Given the description of an element on the screen output the (x, y) to click on. 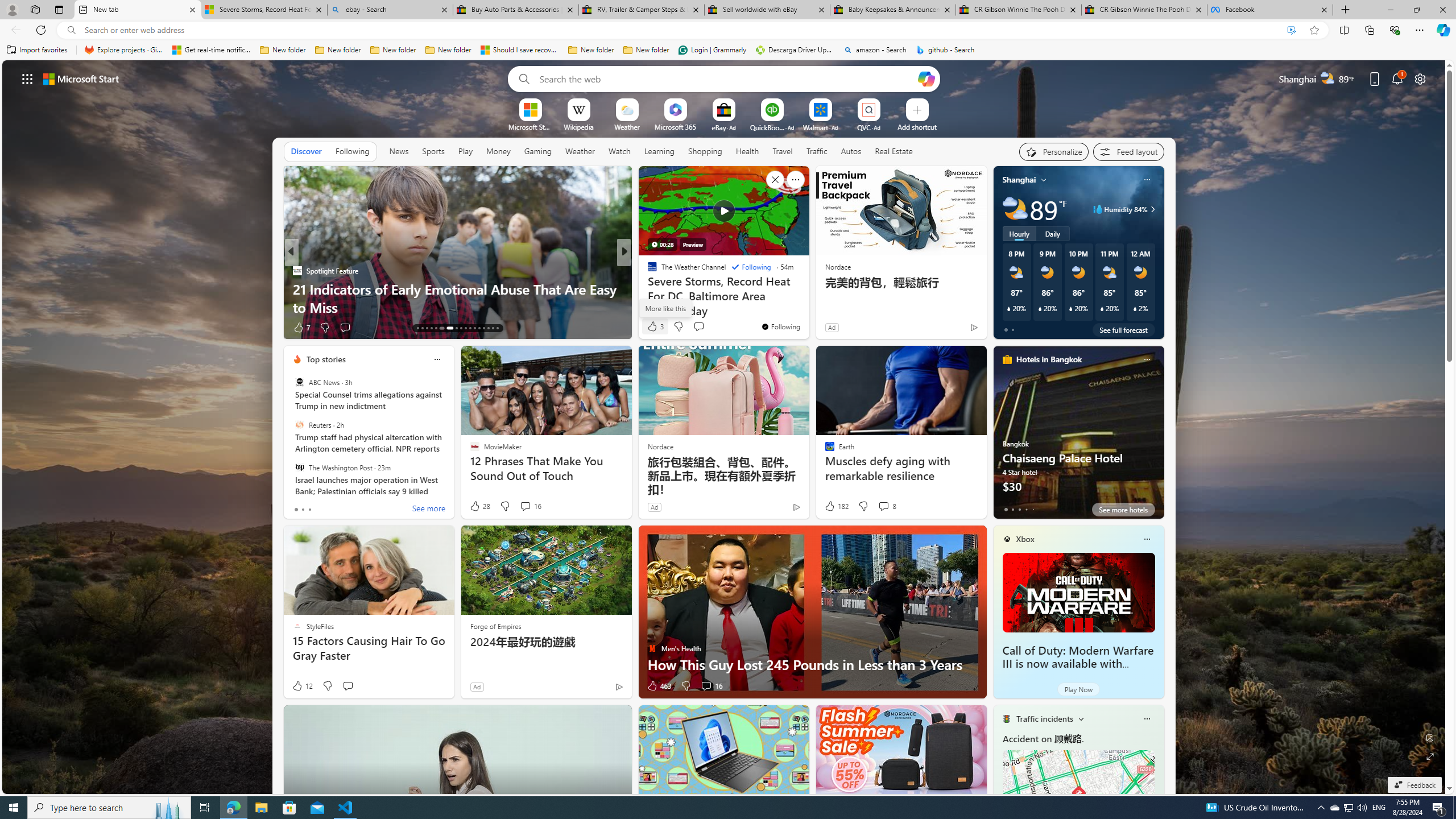
Page settings (1420, 78)
Search icon (70, 29)
Hotels in Bangkok (1048, 359)
Lonely dolphin may be behind series of attacks on swimmers (807, 298)
Dailymotion (647, 288)
AutomationID: tab-24 (474, 328)
Reuters (299, 424)
Chaisaeng Palace Hotel (1078, 436)
